Given the description of an element on the screen output the (x, y) to click on. 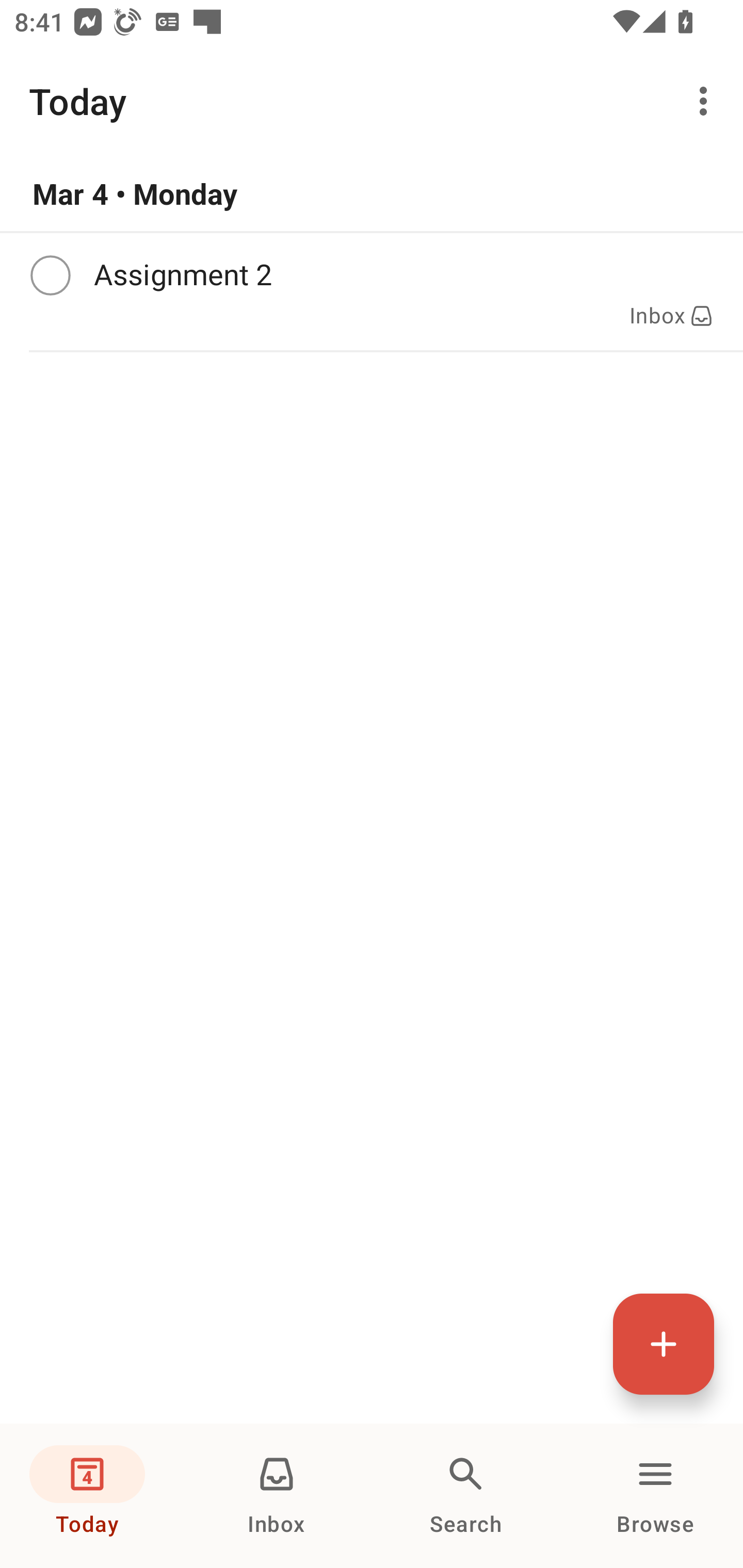
Today More options (371, 100)
More options (706, 101)
Mar 4 • Monday (371, 194)
Complete Assignment 2 Inbox (371, 291)
Complete (50, 275)
Quick add (663, 1343)
Inbox (276, 1495)
Search (465, 1495)
Browse (655, 1495)
